Given the description of an element on the screen output the (x, y) to click on. 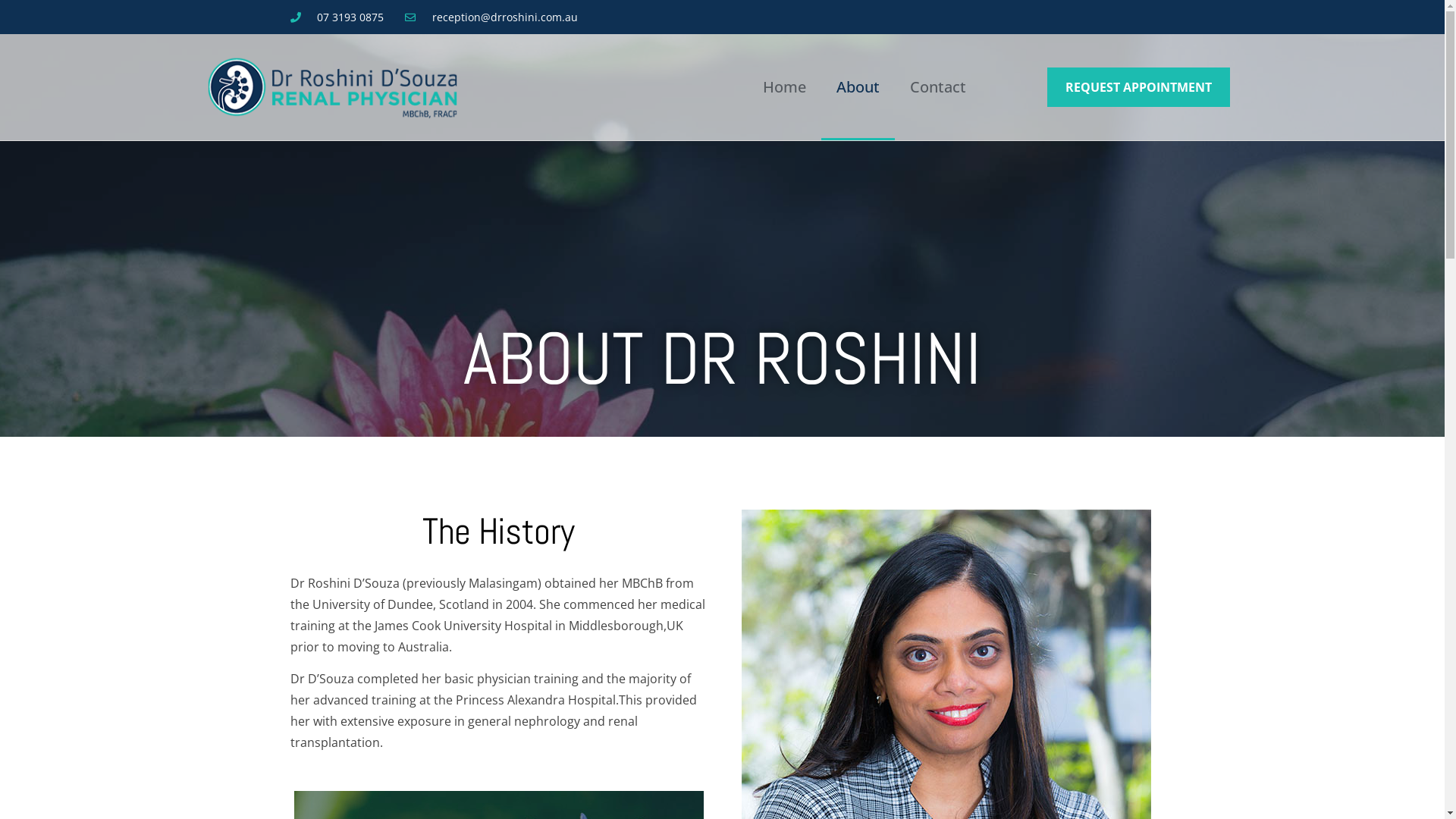
About Element type: text (857, 87)
REQUEST APPOINTMENT Element type: text (1138, 86)
Contact Element type: text (937, 87)
Home Element type: text (784, 87)
07 3193 0875 Element type: text (336, 17)
reception@drroshini.com.au Element type: text (490, 17)
